Given the description of an element on the screen output the (x, y) to click on. 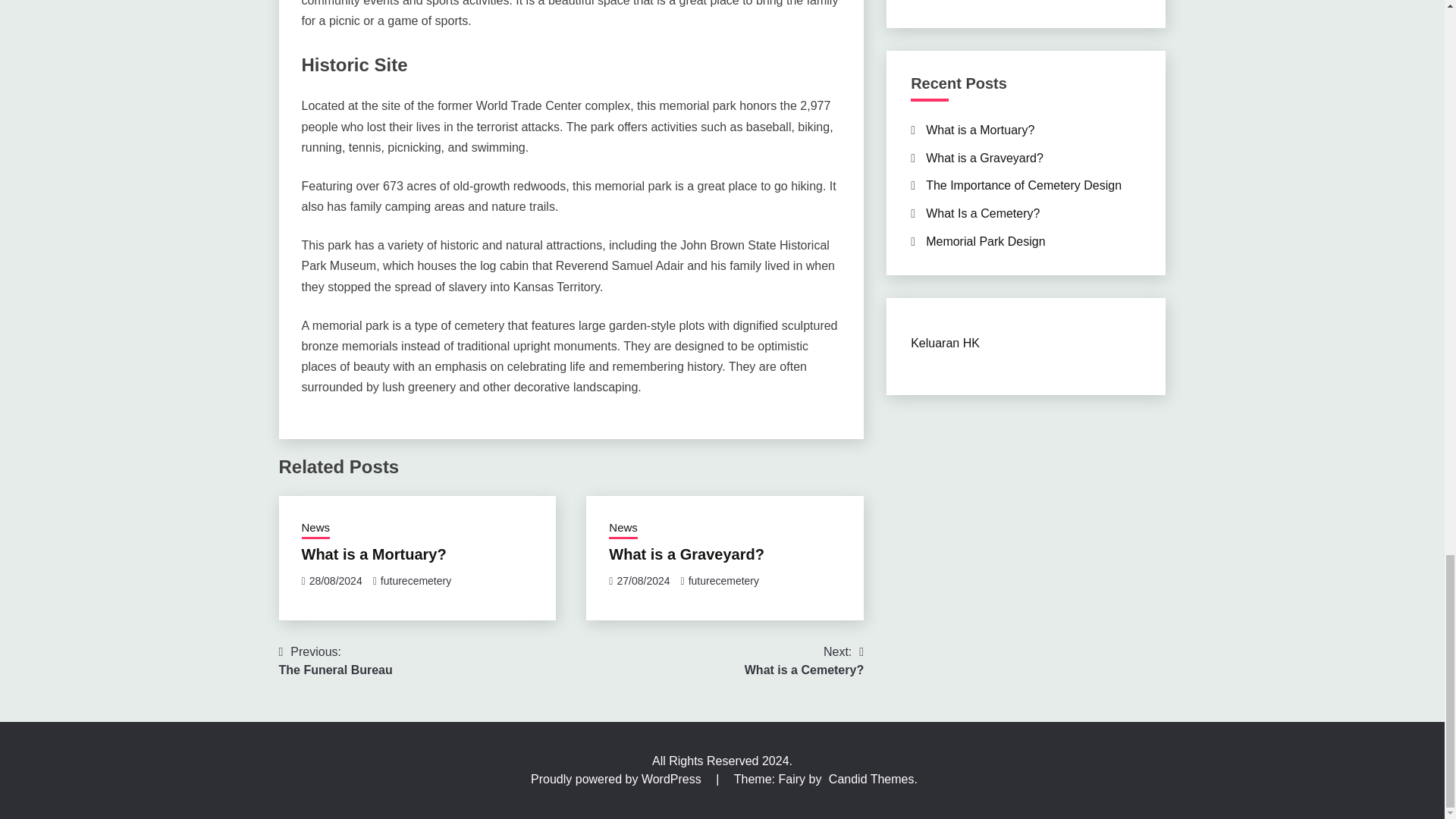
futurecemetery (336, 660)
futurecemetery (723, 580)
What is a Graveyard? (415, 580)
What is a Mortuary? (686, 554)
News (373, 554)
News (622, 528)
